Given the description of an element on the screen output the (x, y) to click on. 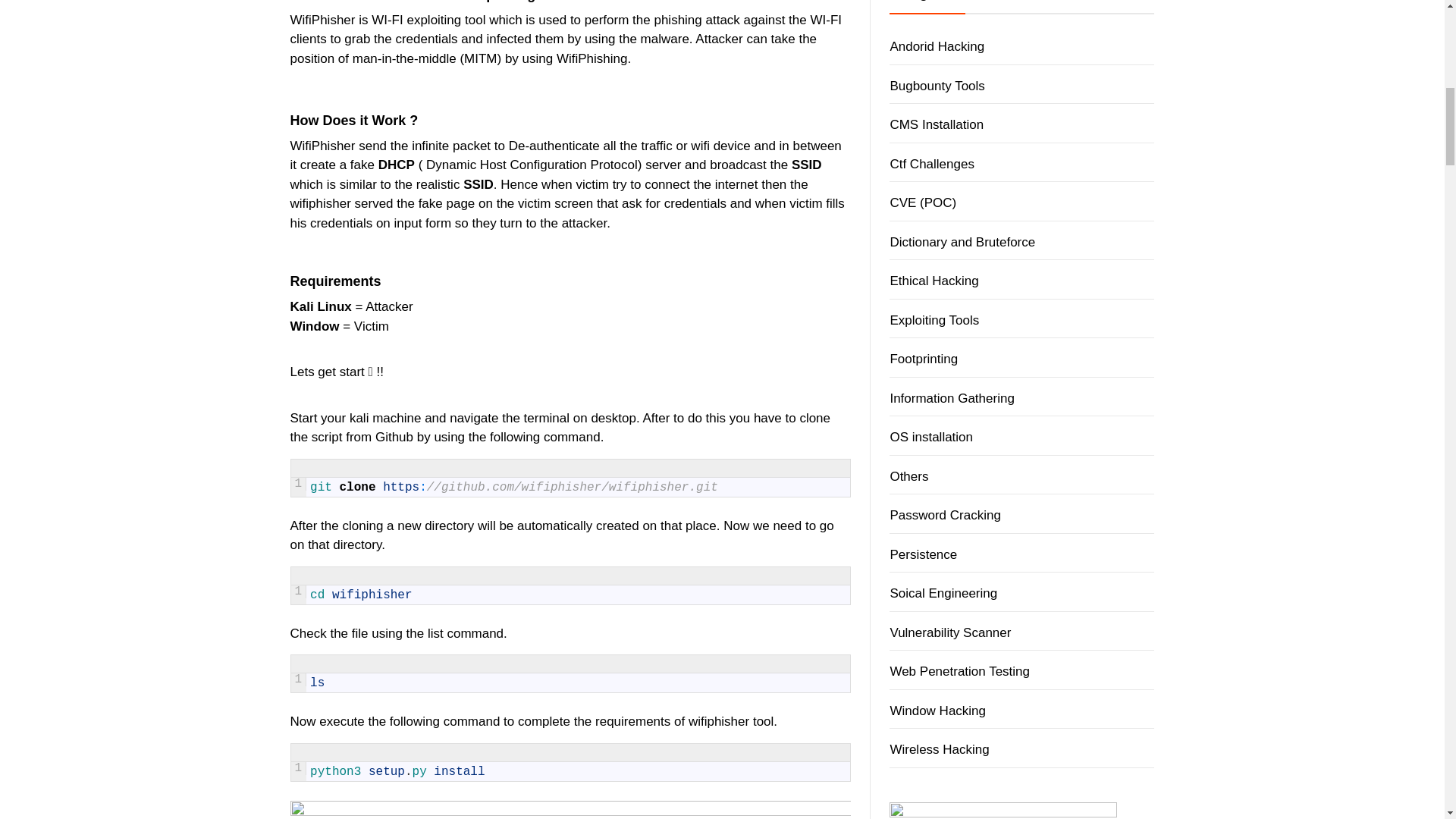
Toggle Line Wrap (803, 664)
Toggle Line Numbers (767, 752)
Copy (822, 664)
Toggle Plain Code (785, 664)
Open Code In New Window (840, 664)
Toggle Line Numbers (767, 576)
Open Code In New Window (840, 468)
Toggle Line Wrap (803, 468)
Toggle Line Numbers (767, 468)
Copy (822, 576)
Toggle Line Wrap (803, 576)
Toggle Plain Code (785, 468)
Open Code In New Window (840, 576)
Toggle Line Numbers (767, 664)
Copy (822, 468)
